Given the description of an element on the screen output the (x, y) to click on. 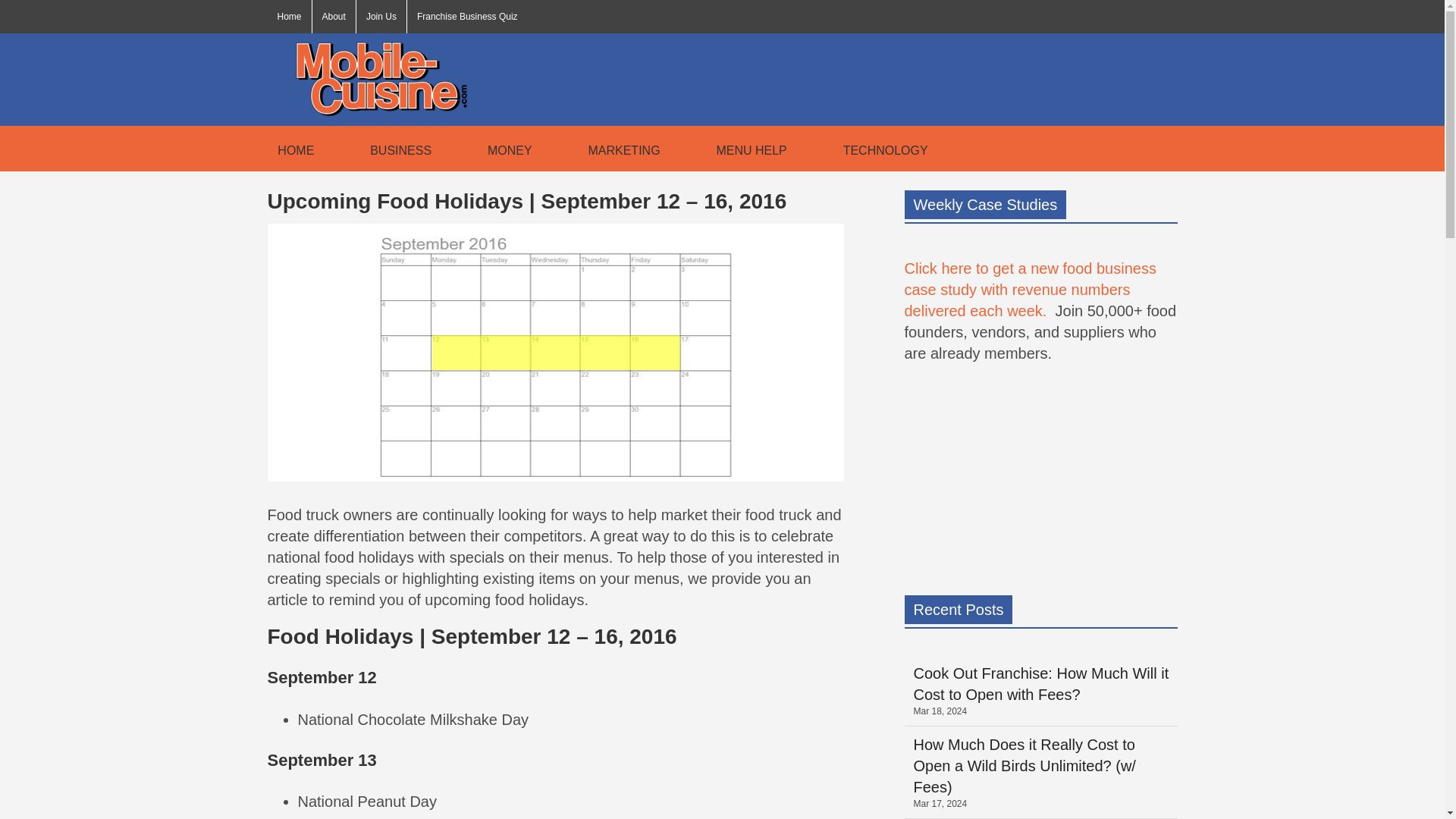
Franchise Business Quiz (467, 16)
Home (288, 16)
About (334, 16)
MARKETING (619, 148)
MENU HELP (746, 148)
Join Us (381, 16)
MONEY (504, 148)
HOME (290, 148)
BUSINESS (394, 148)
TECHNOLOGY (880, 148)
